Given the description of an element on the screen output the (x, y) to click on. 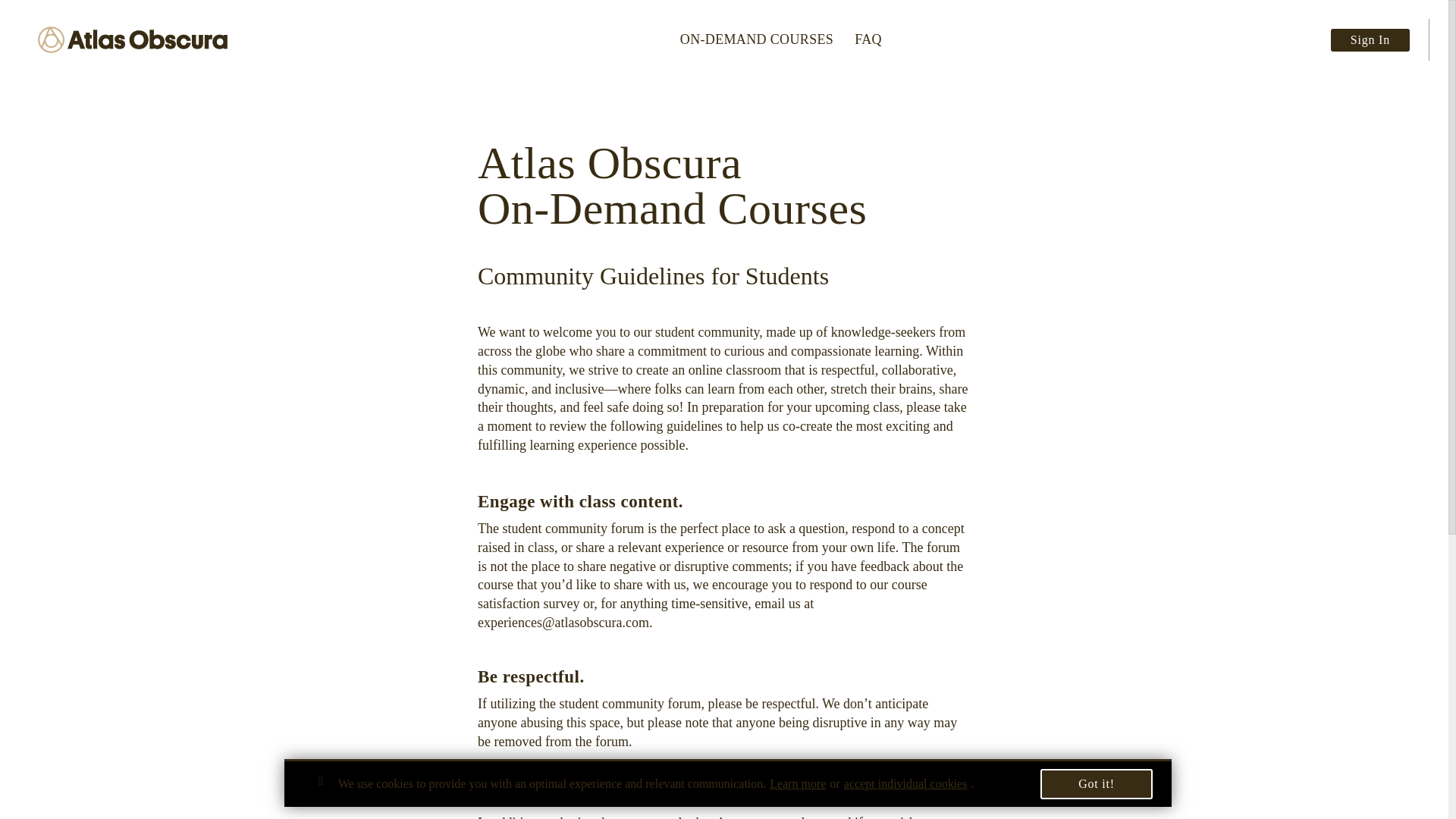
FAQ (868, 39)
ON-DEMAND COURSES (755, 39)
Learn more (797, 783)
Got it! (1097, 784)
Sign In (1369, 39)
accept individual cookies (906, 783)
